Given the description of an element on the screen output the (x, y) to click on. 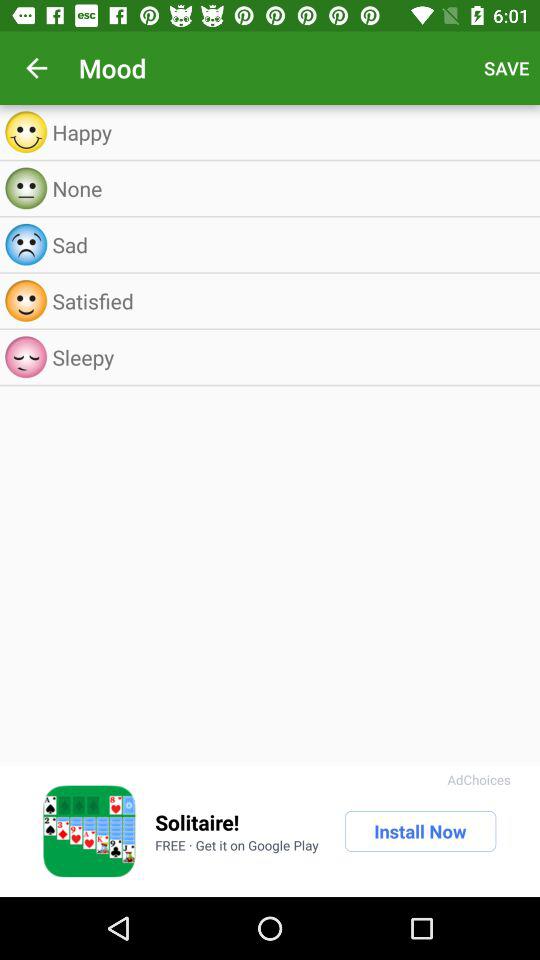
turn off the item next to the free get it (420, 831)
